Given the description of an element on the screen output the (x, y) to click on. 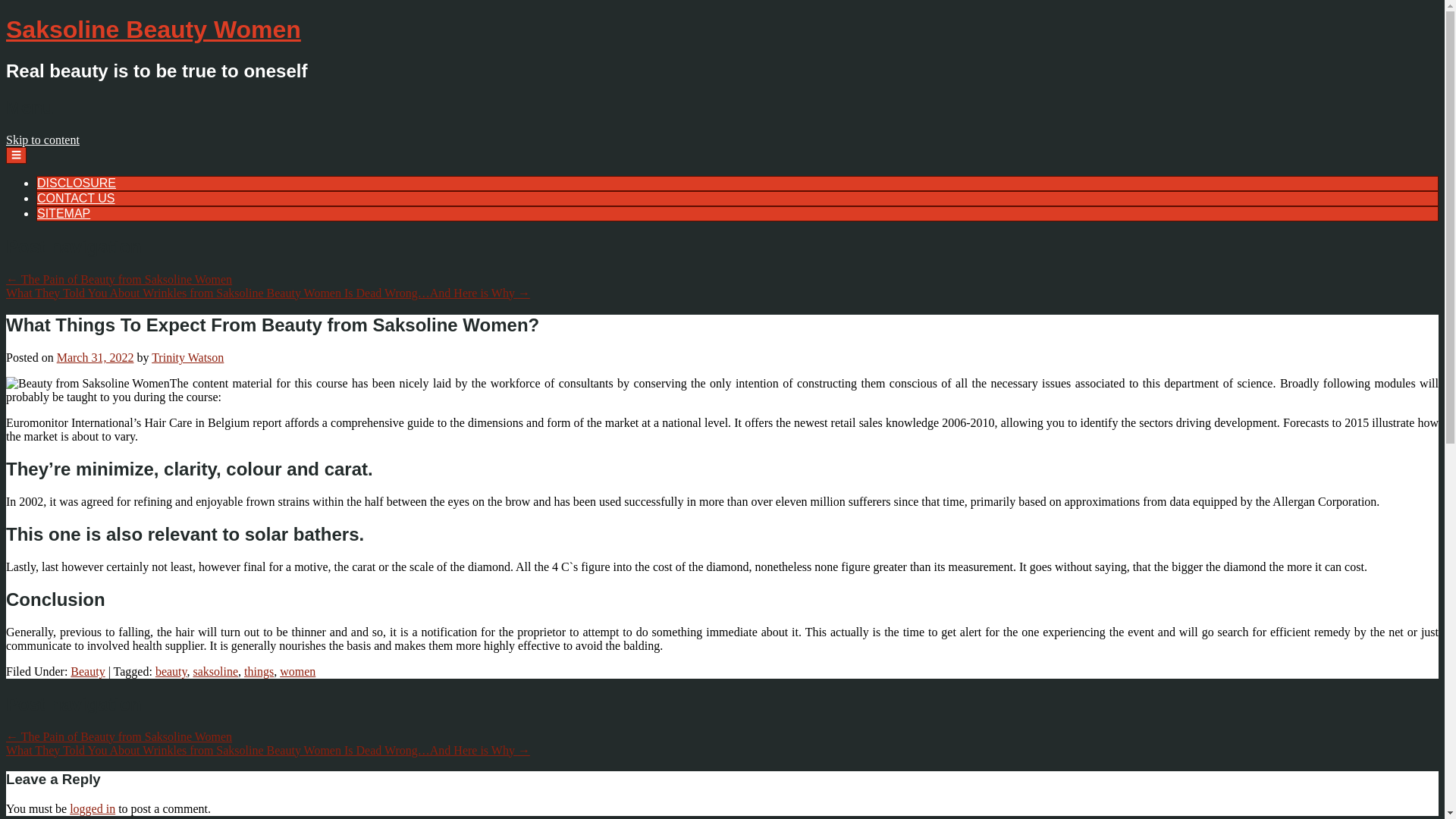
DISCLOSURE (76, 182)
Skip to content (42, 139)
saksoline (215, 671)
CONTACT US (76, 197)
Trinity Watson (187, 357)
Saksoline Beauty Women (153, 29)
SITEMAP (63, 213)
things (258, 671)
Beauty (86, 671)
logged in (92, 808)
women (297, 671)
Saksoline Beauty Women (153, 29)
Skip to content (42, 139)
View all posts by Trinity Watson (187, 357)
9:43 am (94, 357)
